Given the description of an element on the screen output the (x, y) to click on. 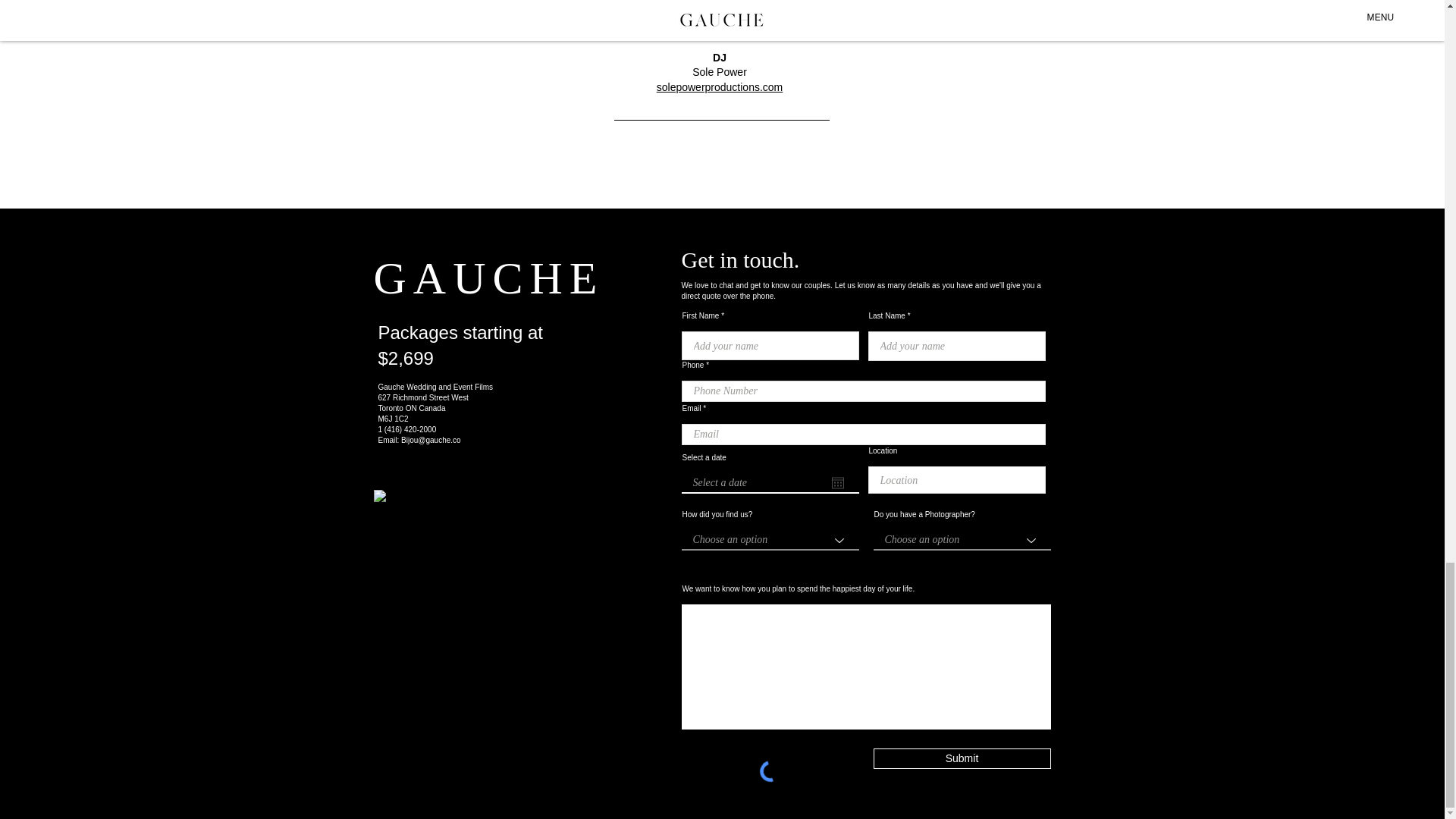
Submit (962, 758)
solepowerproductions.com (719, 87)
GAUCHE LETTER WHITE.png (434, 551)
www.torontofloristshop.net (719, 27)
